Given the description of an element on the screen output the (x, y) to click on. 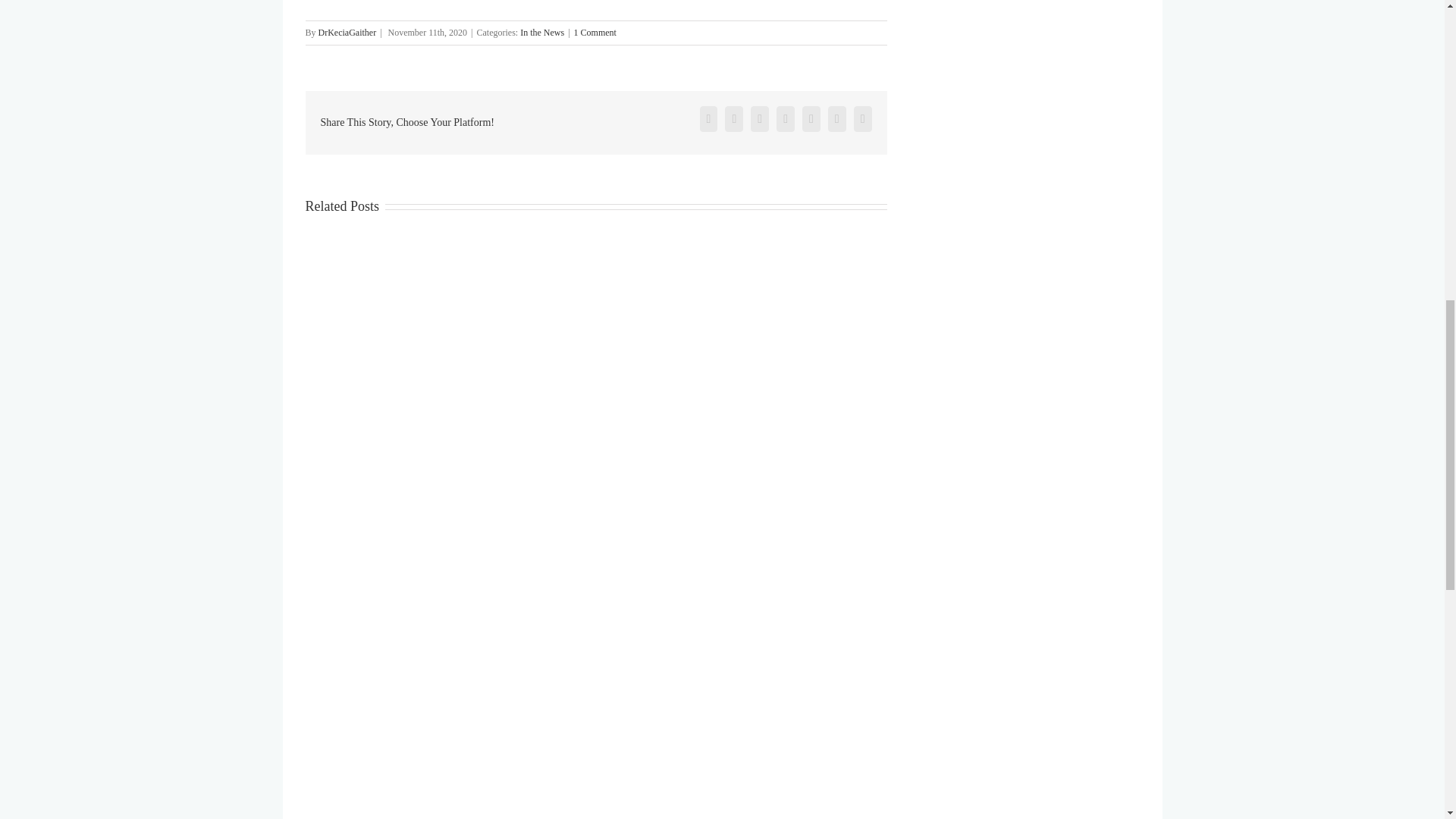
In the News (541, 32)
DrKeciaGaither (347, 32)
1 Comment (594, 32)
Posts by DrKeciaGaither (347, 32)
